Given the description of an element on the screen output the (x, y) to click on. 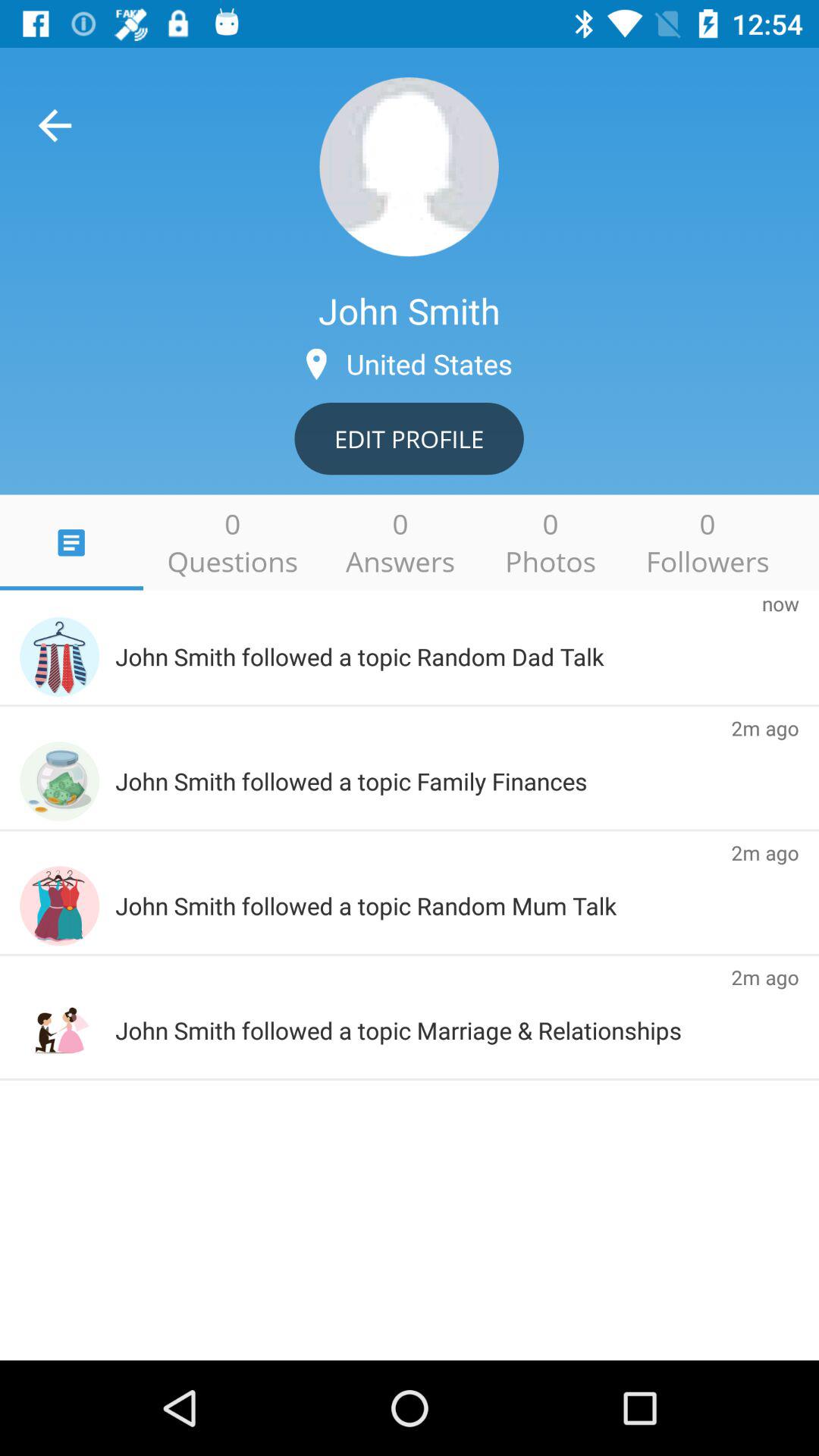
launch the item at the top left corner (54, 125)
